Given the description of an element on the screen output the (x, y) to click on. 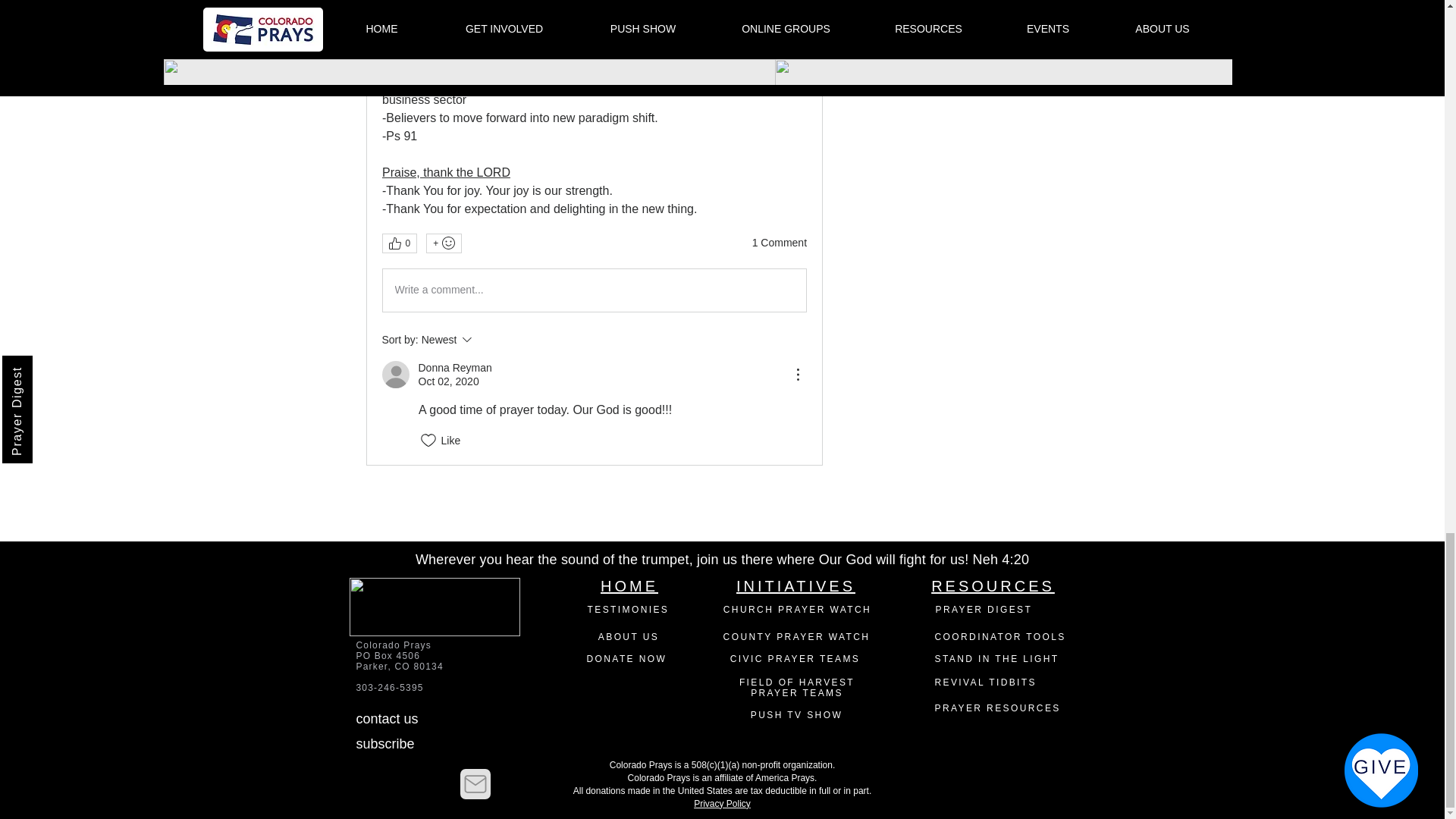
1 Comment (779, 242)
